Given the description of an element on the screen output the (x, y) to click on. 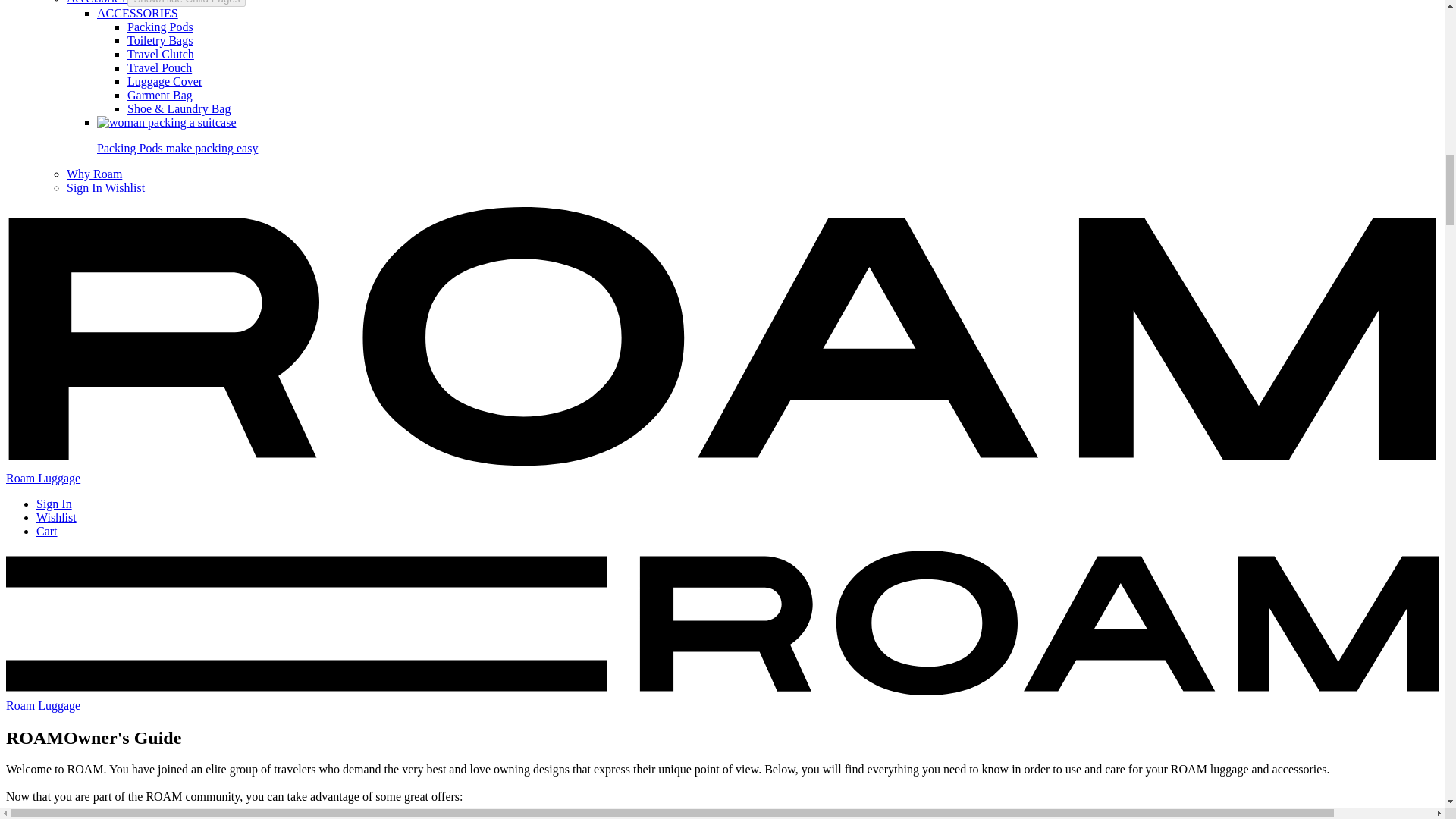
Toiletry Bags (160, 40)
ACCESSORIES (137, 12)
Accessories (97, 2)
Garment Bag (160, 94)
Cart (47, 530)
Wishlist (56, 517)
Travel Clutch (160, 53)
Wishlist (124, 187)
Roam Luggage (721, 698)
Sign In (83, 187)
Sign In (53, 503)
here (92, 818)
Travel Pouch (160, 67)
Packing Pods make packing easy (767, 135)
Luggage Cover (165, 81)
